Given the description of an element on the screen output the (x, y) to click on. 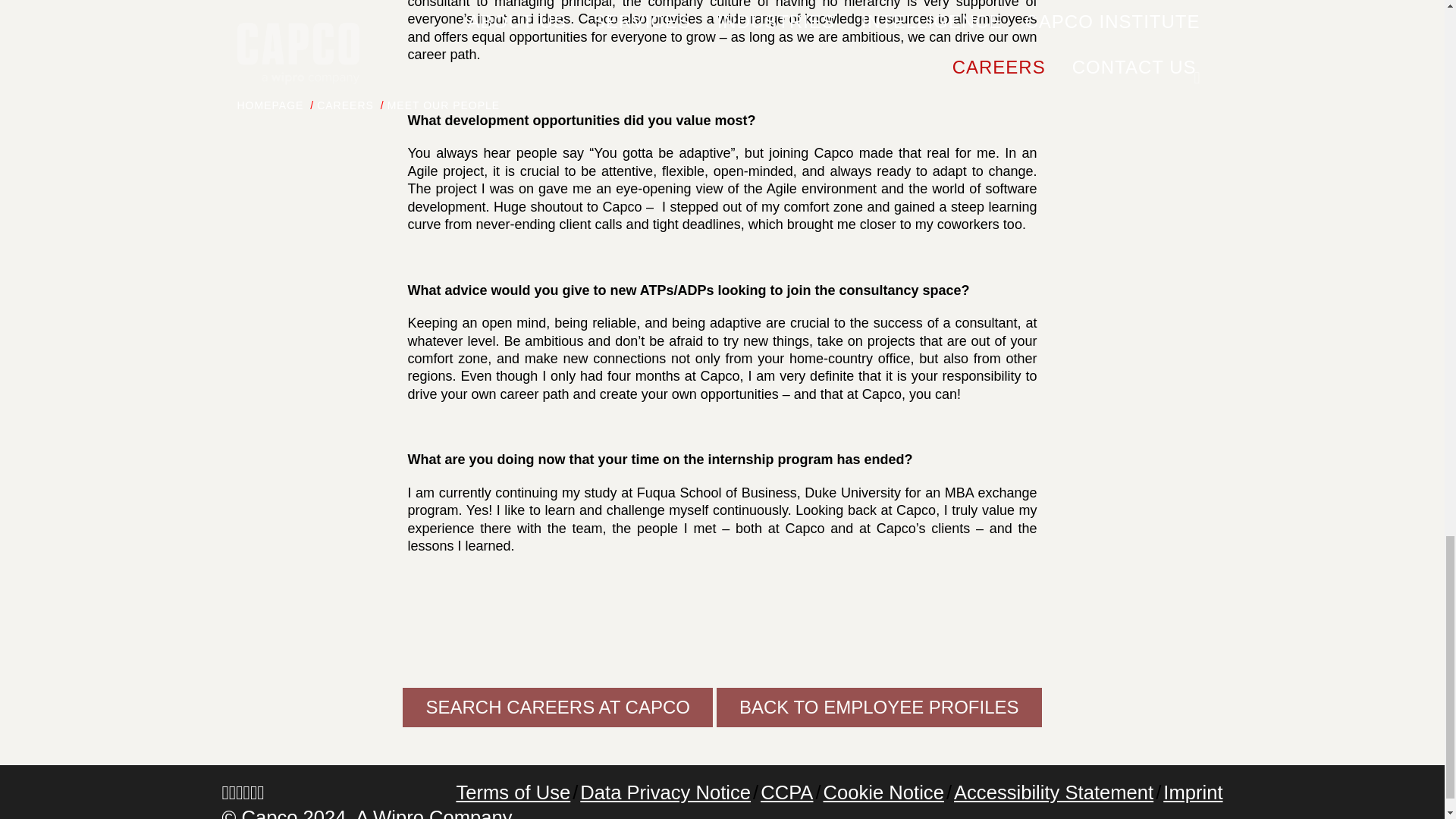
Wipro (397, 812)
